Given the description of an element on the screen output the (x, y) to click on. 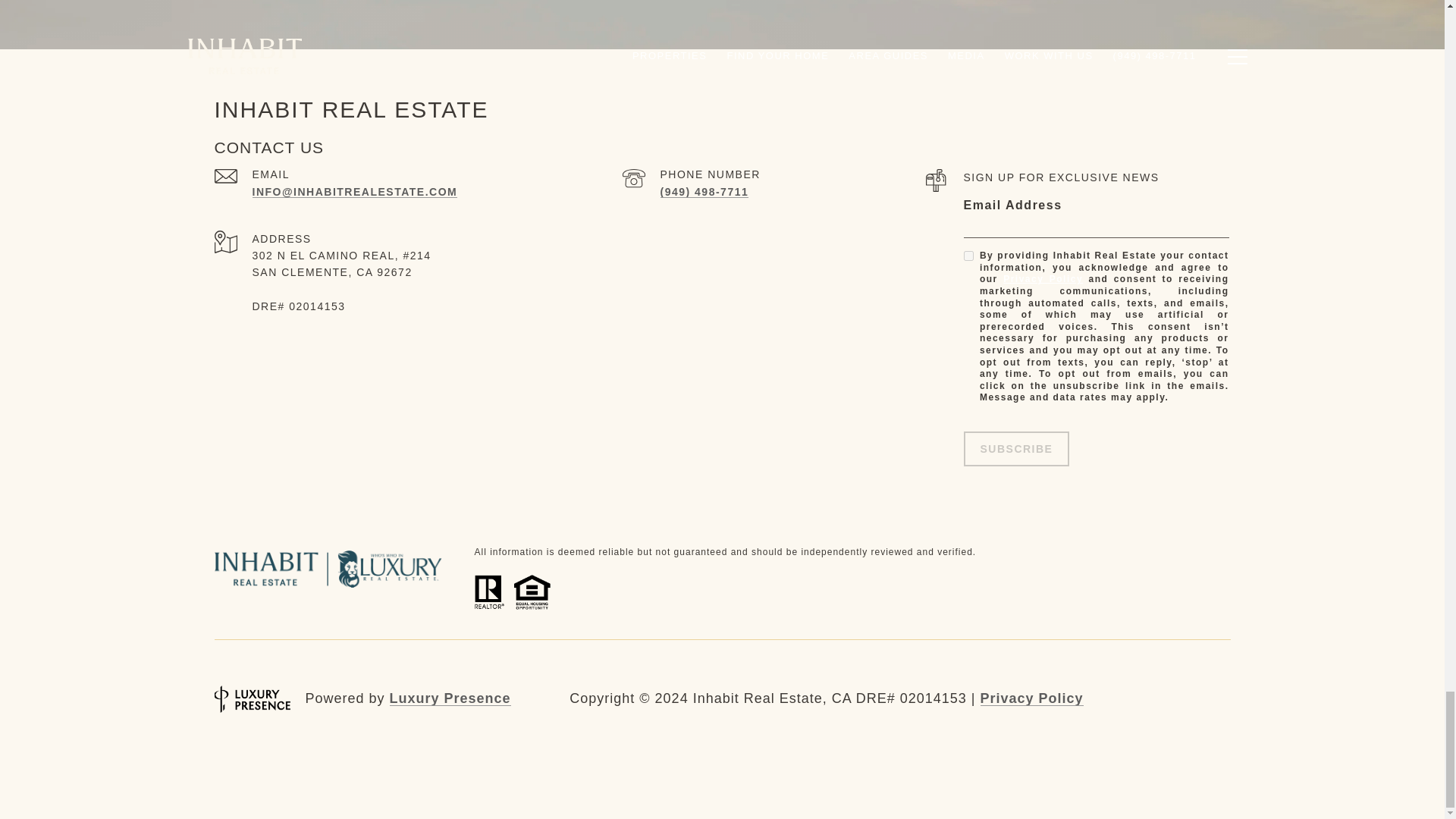
on (967, 255)
